Given the description of an element on the screen output the (x, y) to click on. 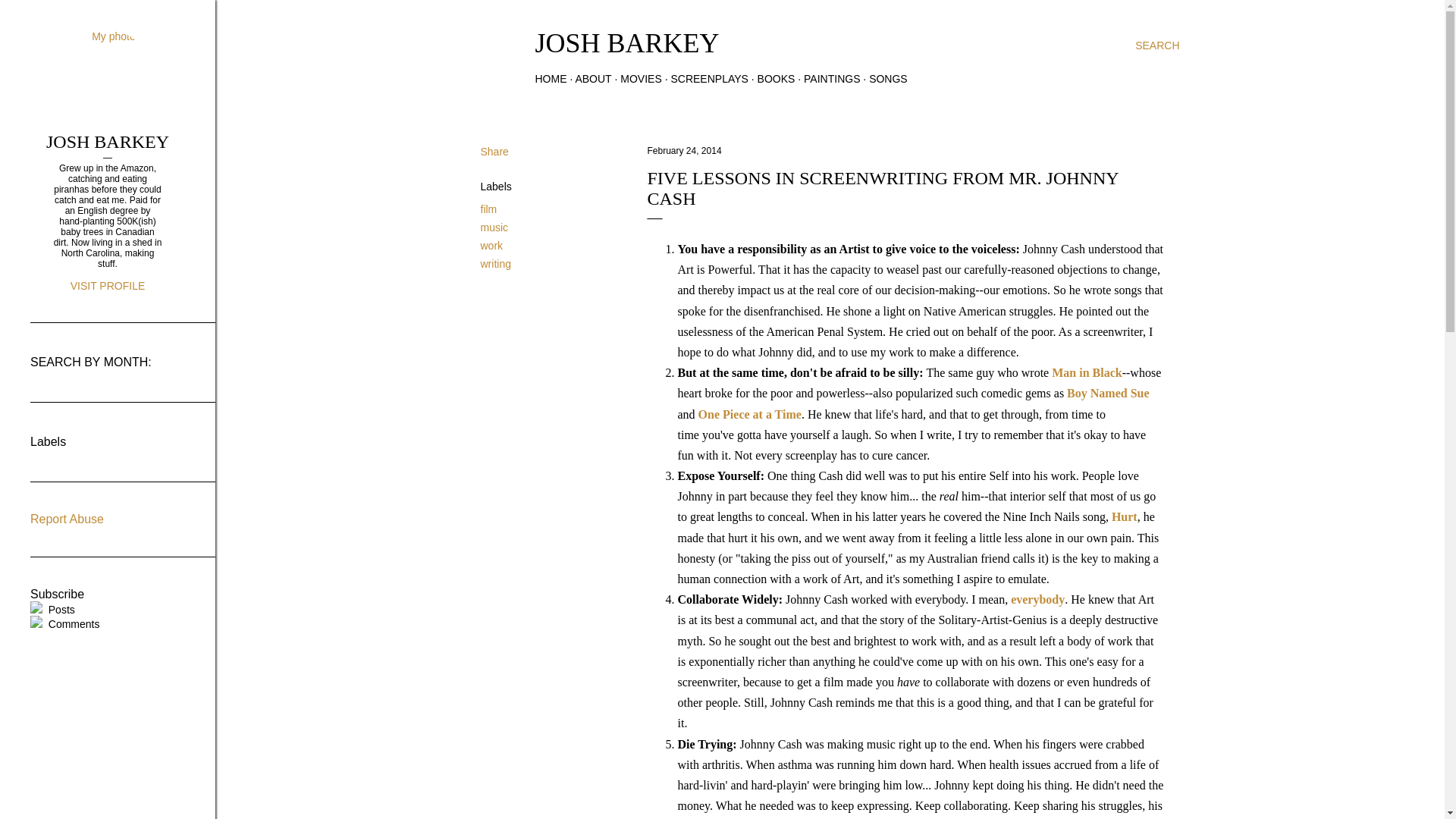
work (491, 245)
music (494, 227)
Boy Named Sue (1107, 392)
Share (494, 151)
writing (495, 263)
ABOUT (593, 78)
MOVIES (640, 78)
film (488, 209)
Hurt (1124, 516)
everybody (1037, 599)
SONGS (888, 78)
PAINTINGS (831, 78)
SCREENPLAYS (708, 78)
SEARCH (1157, 45)
Man in Black (1086, 372)
